Given the description of an element on the screen output the (x, y) to click on. 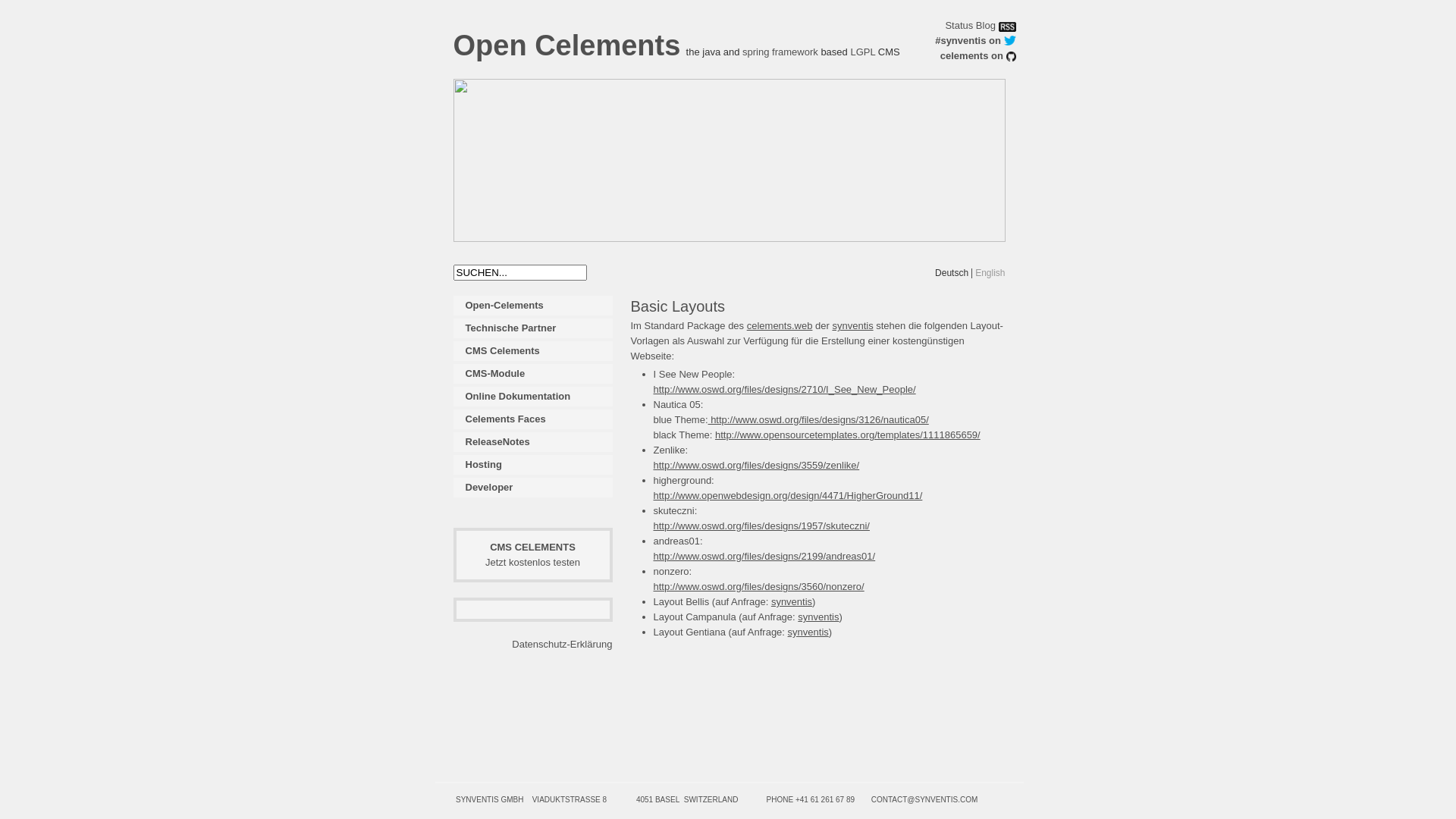
Online Dokumentation Element type: text (532, 396)
http://www.openwebdesign.org/design/4471/HigherGround11/ Element type: text (787, 502)
#synventis on Element type: text (968, 40)
Hosting Element type: text (532, 464)
http://www.oswd.org/files/designs/3560/nonzero/ Element type: text (758, 586)
synventis Element type: text (791, 601)
LGPL Element type: text (862, 51)
CMS Celements Element type: text (532, 350)
Status Blog Element type: text (969, 25)
SYNVENTIS GMBH Element type: text (489, 799)
http://www.oswd.org/files/designs/2710/I_See_New_People/ Element type: text (784, 389)
CMS CELEMENTS Element type: text (532, 546)
http://www.oswd.org/files/designs/2199/andreas01/ Element type: text (764, 555)
Open-Celements Element type: text (532, 305)
spring framework Element type: text (780, 51)
http://www.oswd.org/files/designs/3559/zenlike/ Element type: text (756, 472)
Technische Partner Element type: text (532, 328)
celements on Element type: text (971, 55)
Developer Element type: text (532, 487)
synventis Element type: text (817, 616)
Celements Faces Element type: text (532, 419)
synventis Element type: text (807, 631)
Open Celements Element type: text (566, 45)
http://www.oswd.org/files/designs/3126/nautica05/ Element type: text (818, 419)
Deutsch Element type: text (951, 272)
celements.web Element type: text (779, 325)
CONTACT@SYNVENTIS.COM Element type: text (924, 799)
English Element type: text (989, 272)
CMS-Module Element type: text (532, 373)
Jetzt kostenlos testen Element type: text (532, 561)
http://www.opensourcetemplates.org/templates/1111865659/ Element type: text (847, 434)
http://www.oswd.org/files/designs/1957/skuteczni/ Element type: text (761, 525)
ReleaseNotes Element type: text (532, 441)
synventis Element type: text (851, 325)
